Given the description of an element on the screen output the (x, y) to click on. 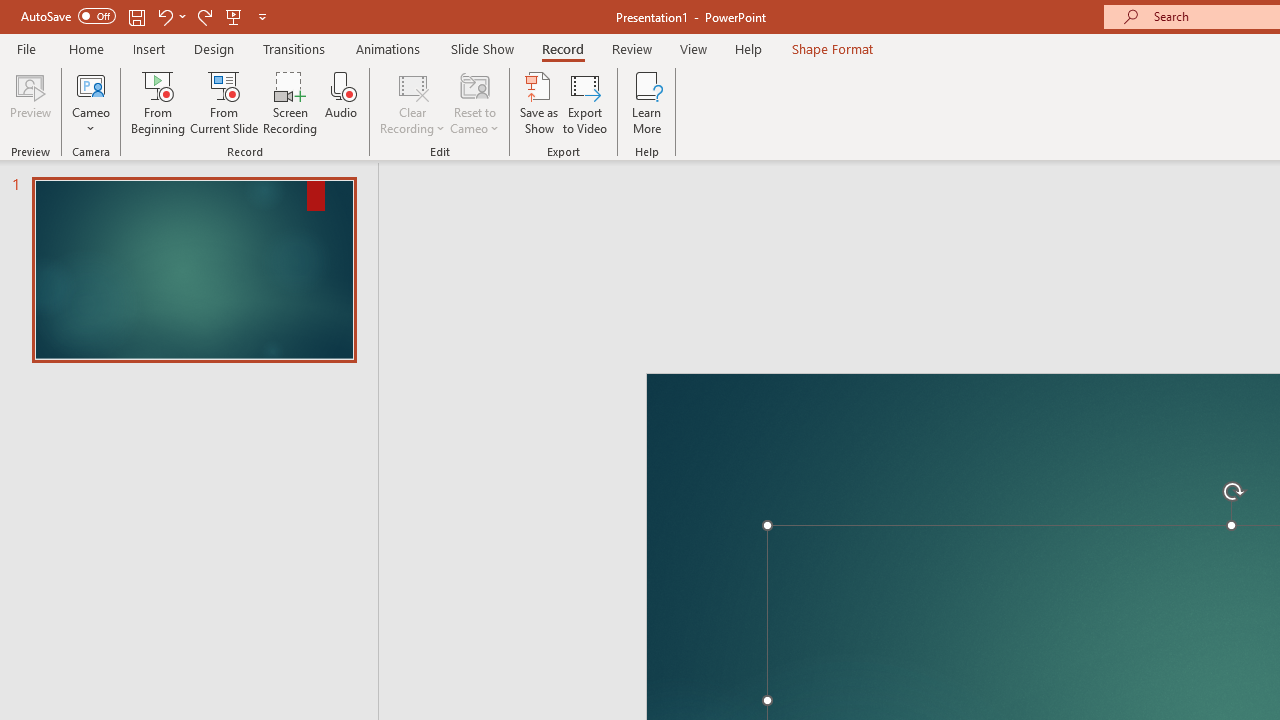
Export to Video (585, 102)
